Given the description of an element on the screen output the (x, y) to click on. 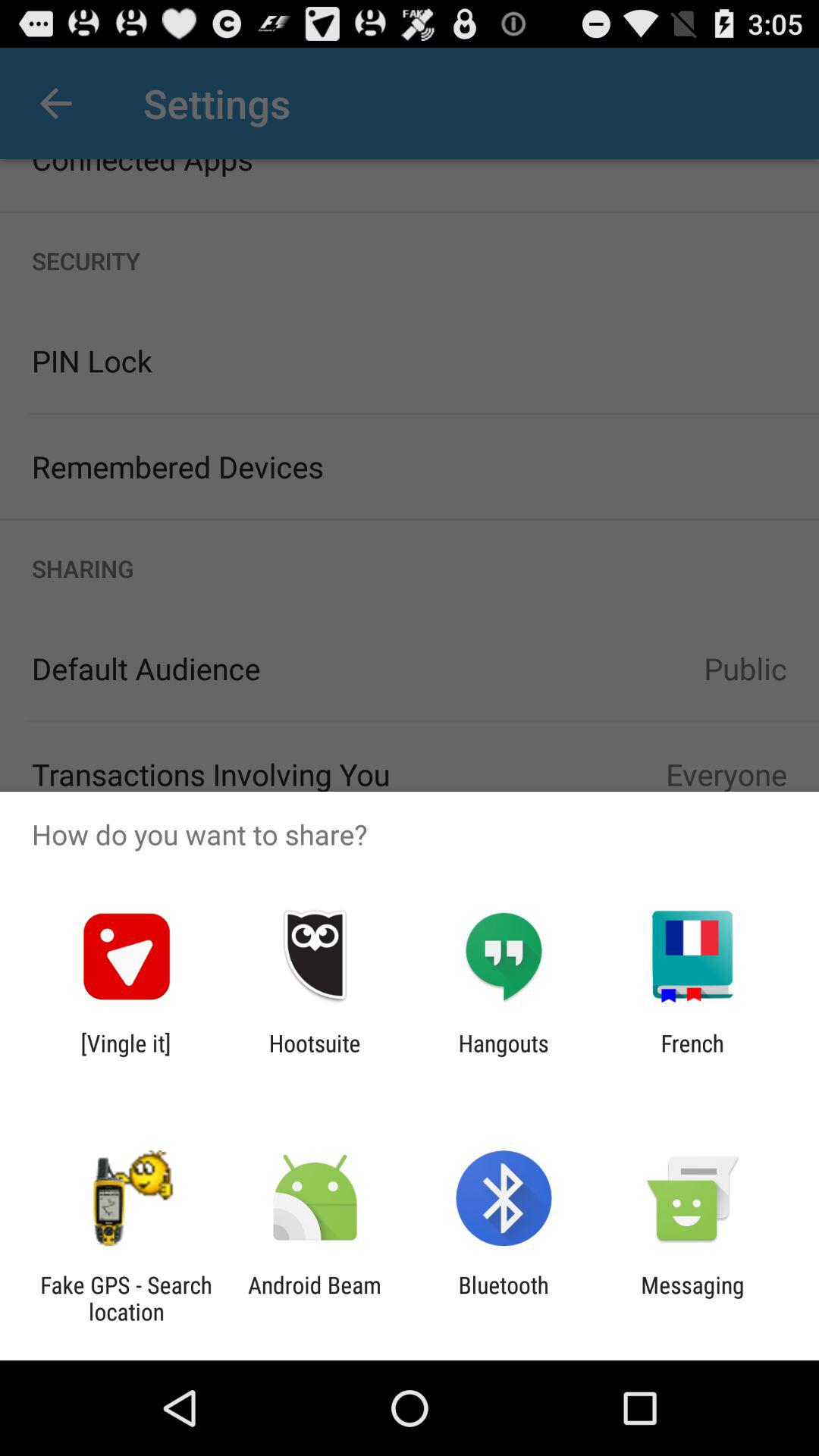
jump to the hangouts app (503, 1056)
